Given the description of an element on the screen output the (x, y) to click on. 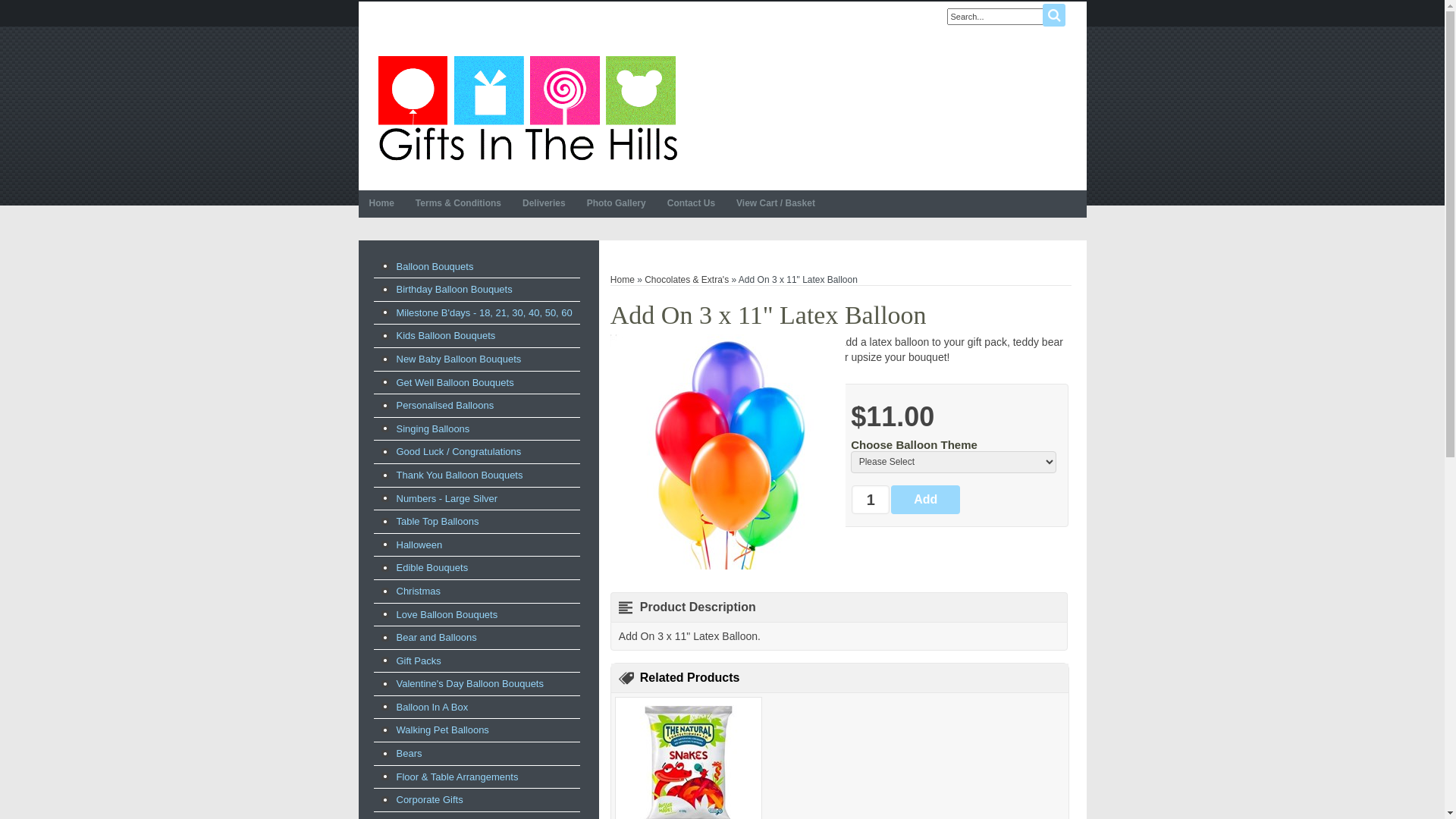
Add On 3 x 11" Latex Balloon Element type: hover (727, 451)
Singing Balloons Element type: text (476, 428)
Thank You Balloon Bouquets Element type: text (476, 475)
Christmas Element type: text (476, 591)
Good Luck / Congratulations Element type: text (476, 451)
Chocolates & Extra's Element type: text (686, 279)
Home Element type: text (380, 203)
Balloon Bouquets Element type: text (476, 266)
Photo Gallery Element type: text (616, 203)
Search Element type: hover (1052, 14)
Table Top Balloons Element type: text (476, 521)
Valentine's Day Balloon Bouquets Element type: text (476, 683)
Corporate Gifts Element type: text (476, 799)
Balloon In A Box Element type: text (476, 707)
Love Balloon Bouquets Element type: text (476, 614)
Bears Element type: text (476, 753)
Bear and Balloons Element type: text (476, 637)
Numbers - Large Silver Element type: text (476, 498)
Kids Balloon Bouquets Element type: text (476, 335)
Halloween Element type: text (476, 544)
Personalised Balloons Element type: text (476, 405)
Home Element type: text (622, 279)
Edible Bouquets Element type: text (476, 567)
Gift Packs Element type: text (476, 660)
Birthday Balloon Bouquets Element type: text (476, 289)
Deliveries Element type: text (543, 203)
Walking Pet Balloons Element type: text (476, 729)
Terms & Conditions Element type: text (457, 203)
View Cart / Basket Element type: text (775, 203)
Milestone B'days - 18, 21, 30, 40, 50, 60 Element type: text (476, 312)
Get Well Balloon Bouquets Element type: text (476, 382)
Add Element type: text (925, 499)
Contact Us Element type: text (690, 203)
Floor & Table Arrangements Element type: text (476, 776)
New Baby Balloon Bouquets Element type: text (476, 359)
